Given the description of an element on the screen output the (x, y) to click on. 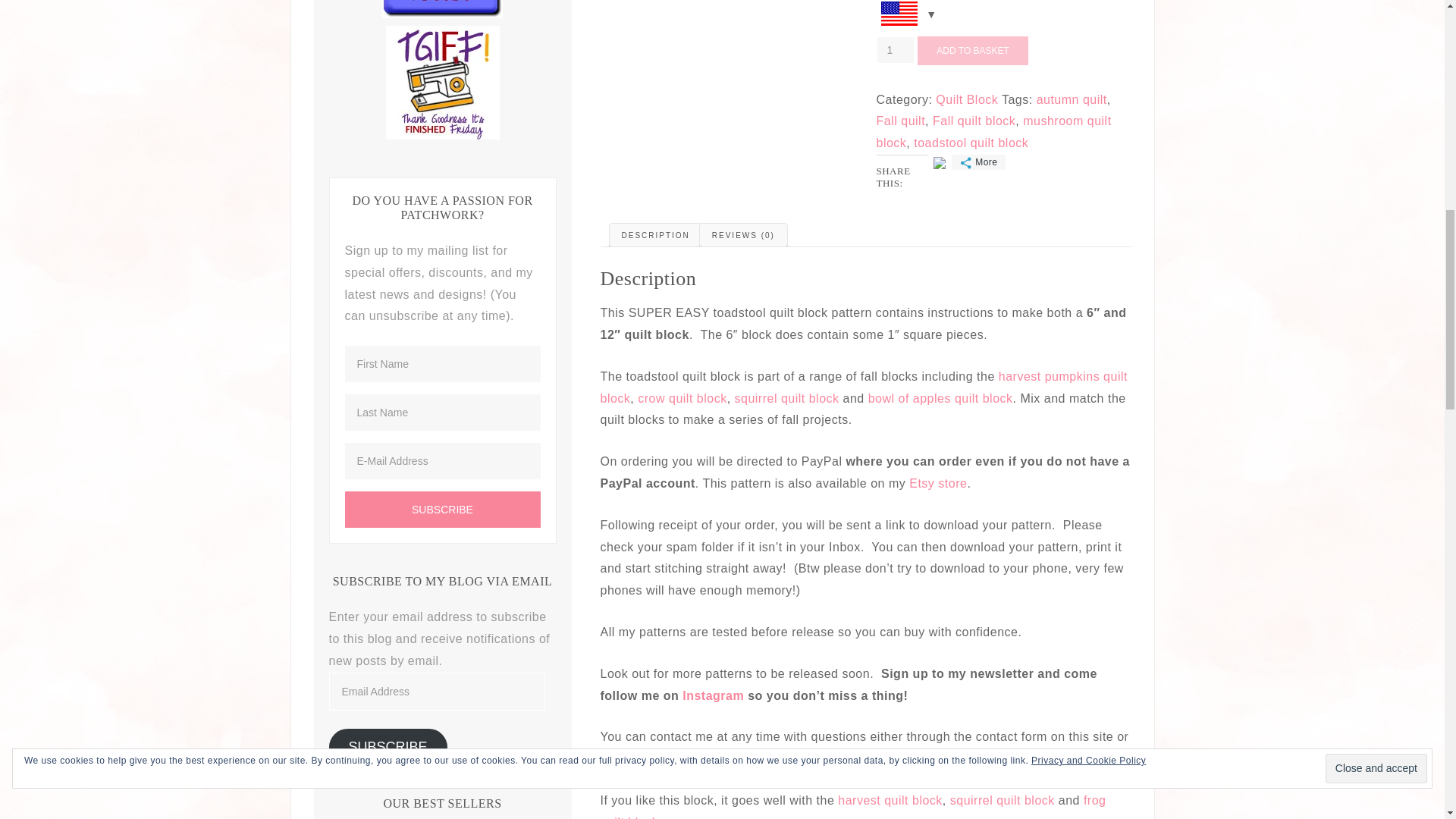
Quilt Block (966, 99)
Etsy store (937, 482)
More (979, 161)
crow quilt block (681, 398)
harvest quilt block (890, 799)
Instagram (822, 758)
harvest pumpkins quilt block (862, 387)
Fall quilt block (973, 120)
1 (895, 49)
mushroom quilt block (994, 131)
